Given the description of an element on the screen output the (x, y) to click on. 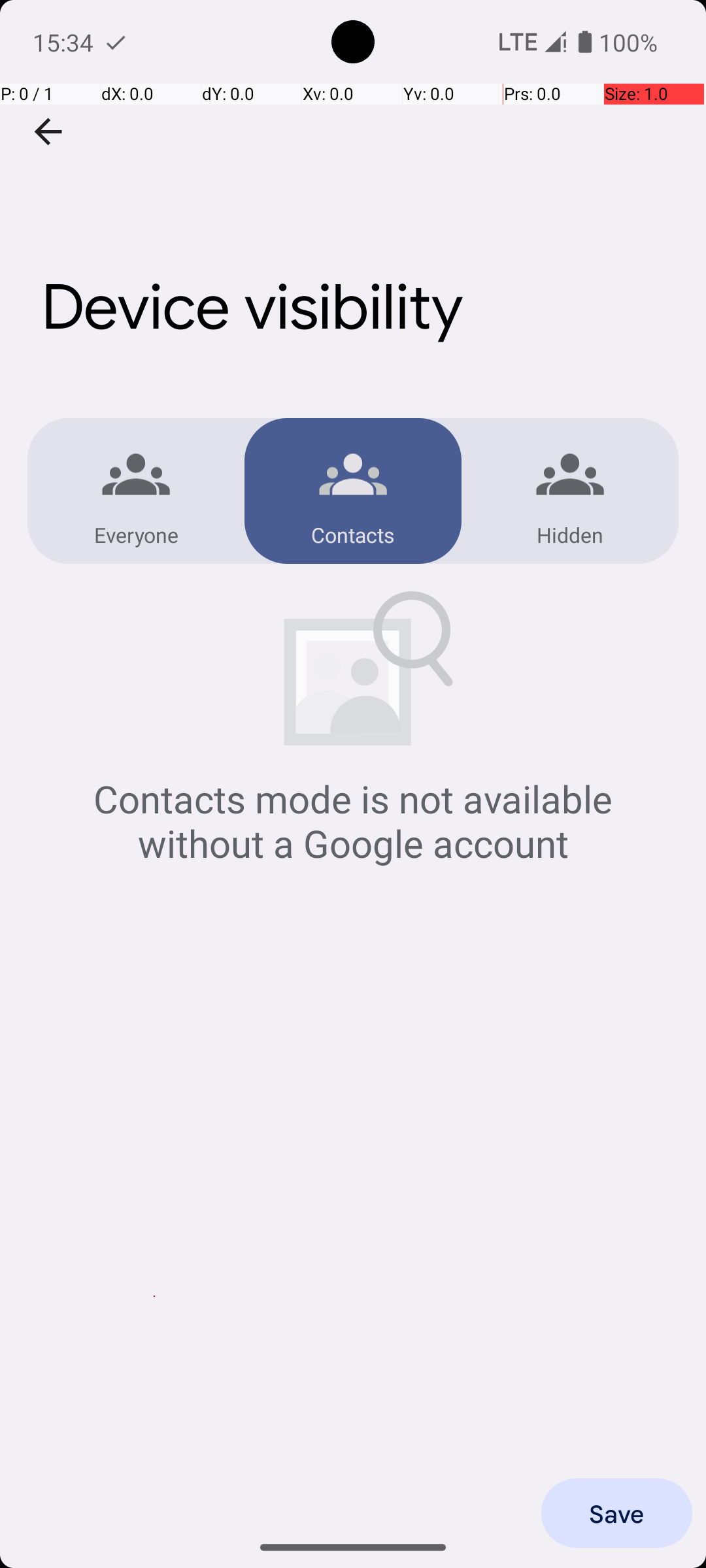
Device visibility Element type: android.widget.FrameLayout (353, 195)
Contacts mode is not available without a Google account Element type: android.widget.TextView (352, 820)
Everyone Element type: android.widget.TextView (135, 534)
Hidden Element type: android.widget.TextView (569, 534)
